Given the description of an element on the screen output the (x, y) to click on. 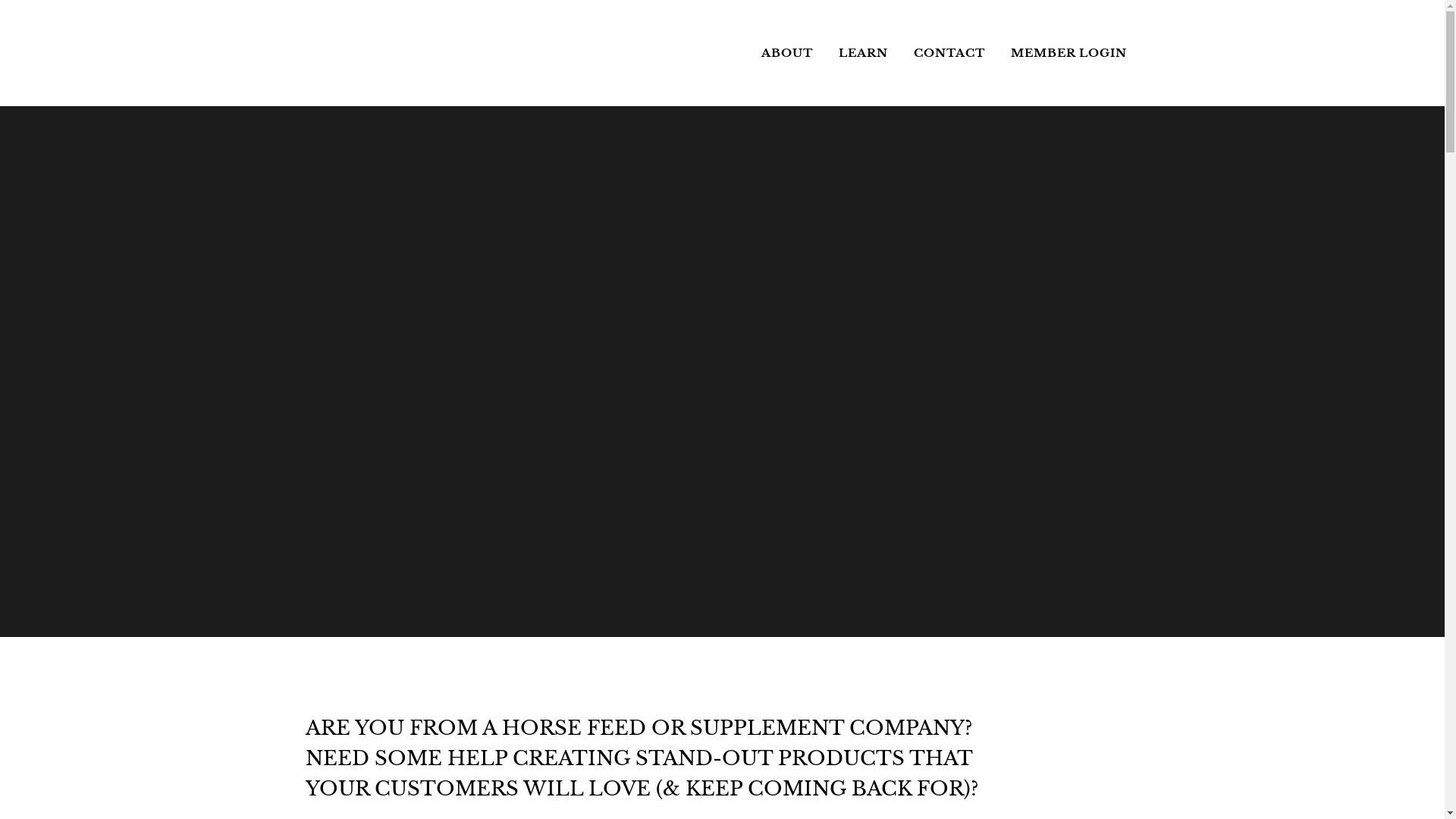
LEARN Element type: text (862, 53)
MEMBER LOGIN Element type: text (1068, 53)
ABOUT Element type: text (786, 53)
CONTACT Element type: text (948, 53)
